Given the description of an element on the screen output the (x, y) to click on. 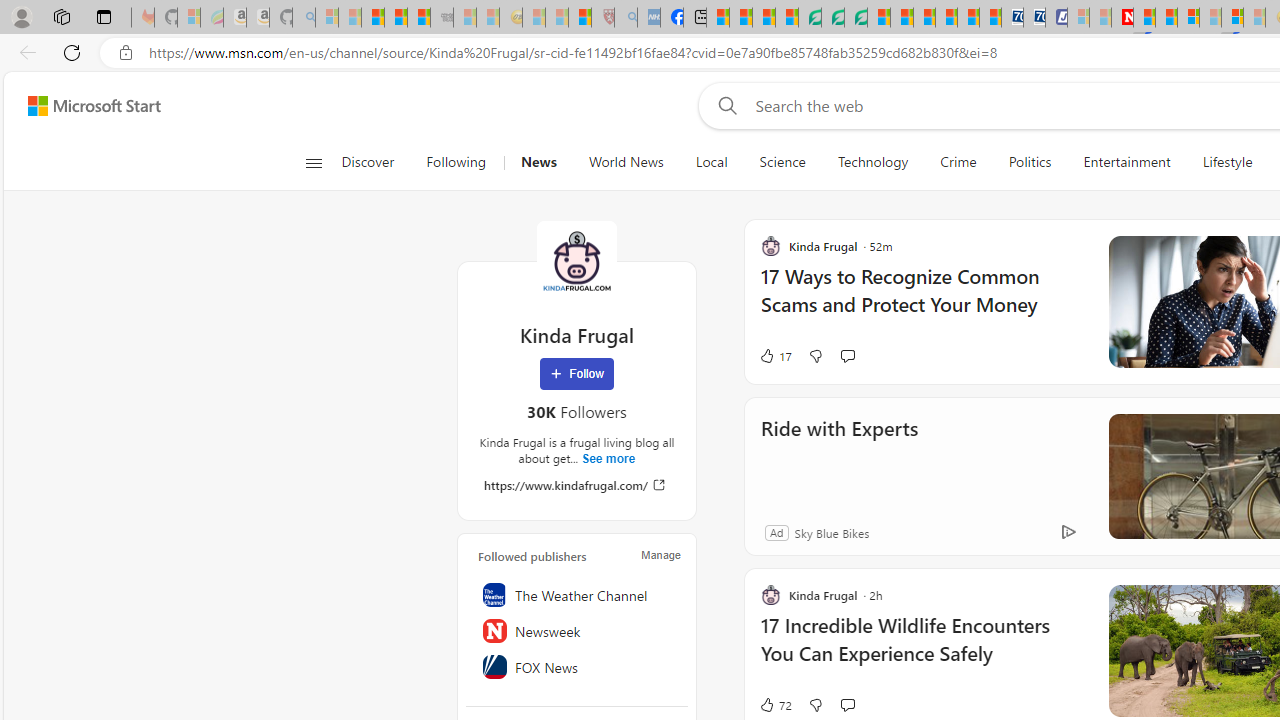
Manage (660, 554)
NCL Adult Asthma Inhaler Choice Guideline - Sleeping (648, 17)
News (537, 162)
Robert H. Shmerling, MD - Harvard Health - Sleeping (602, 17)
Science (782, 162)
17 Like (775, 355)
17 Incredible Wildlife Encounters You Can Experience Safely (922, 650)
Combat Siege (442, 17)
Microsoft-Report a Concern to Bing - Sleeping (188, 17)
Ride with Experts (838, 455)
